Given the description of an element on the screen output the (x, y) to click on. 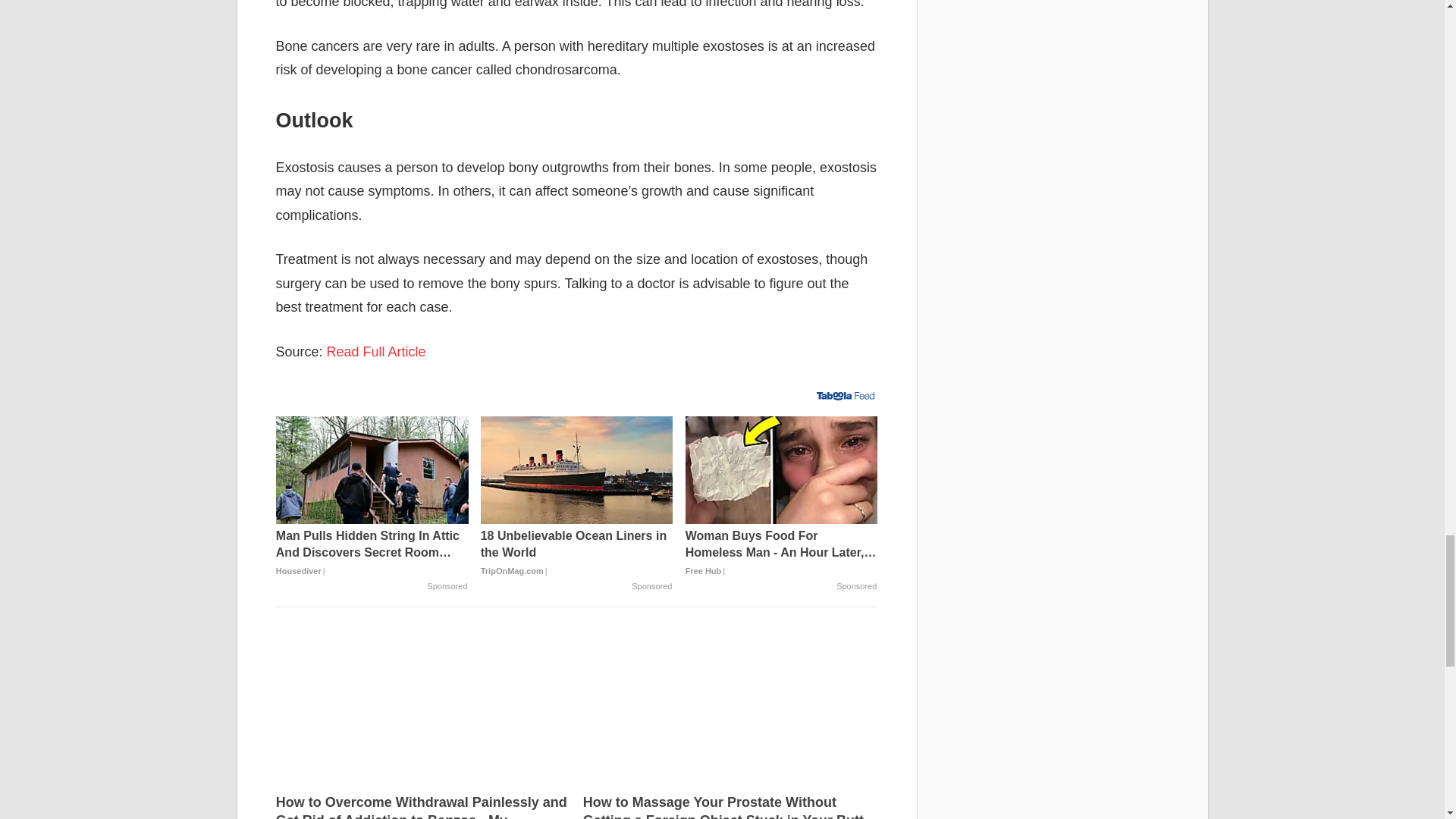
Sponsored (651, 586)
18 Unbelievable Ocean Liners in the World (576, 553)
Read Full Article (376, 351)
Sponsored (446, 586)
18 Unbelievable Ocean Liners in the World (576, 470)
Sponsored (855, 586)
